Given the description of an element on the screen output the (x, y) to click on. 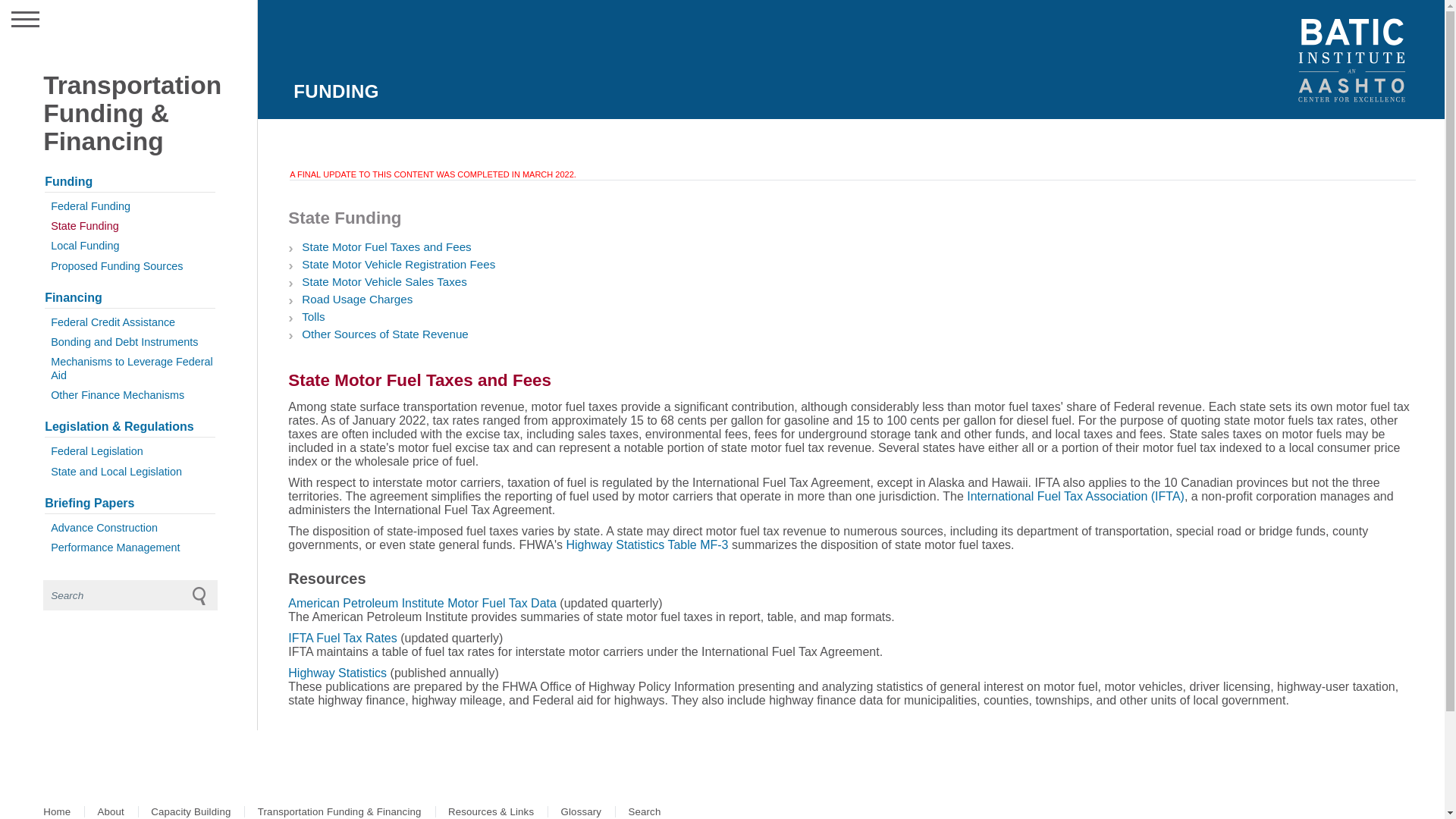
Briefing Papers (130, 503)
Proposed Funding Sources (130, 266)
Tolls (312, 316)
Federal Legislation (130, 451)
State Funding (130, 225)
Performance Management (130, 547)
toggle menu (58, 19)
Funding (130, 181)
Highway Statistics (337, 672)
Home (56, 811)
